Given the description of an element on the screen output the (x, y) to click on. 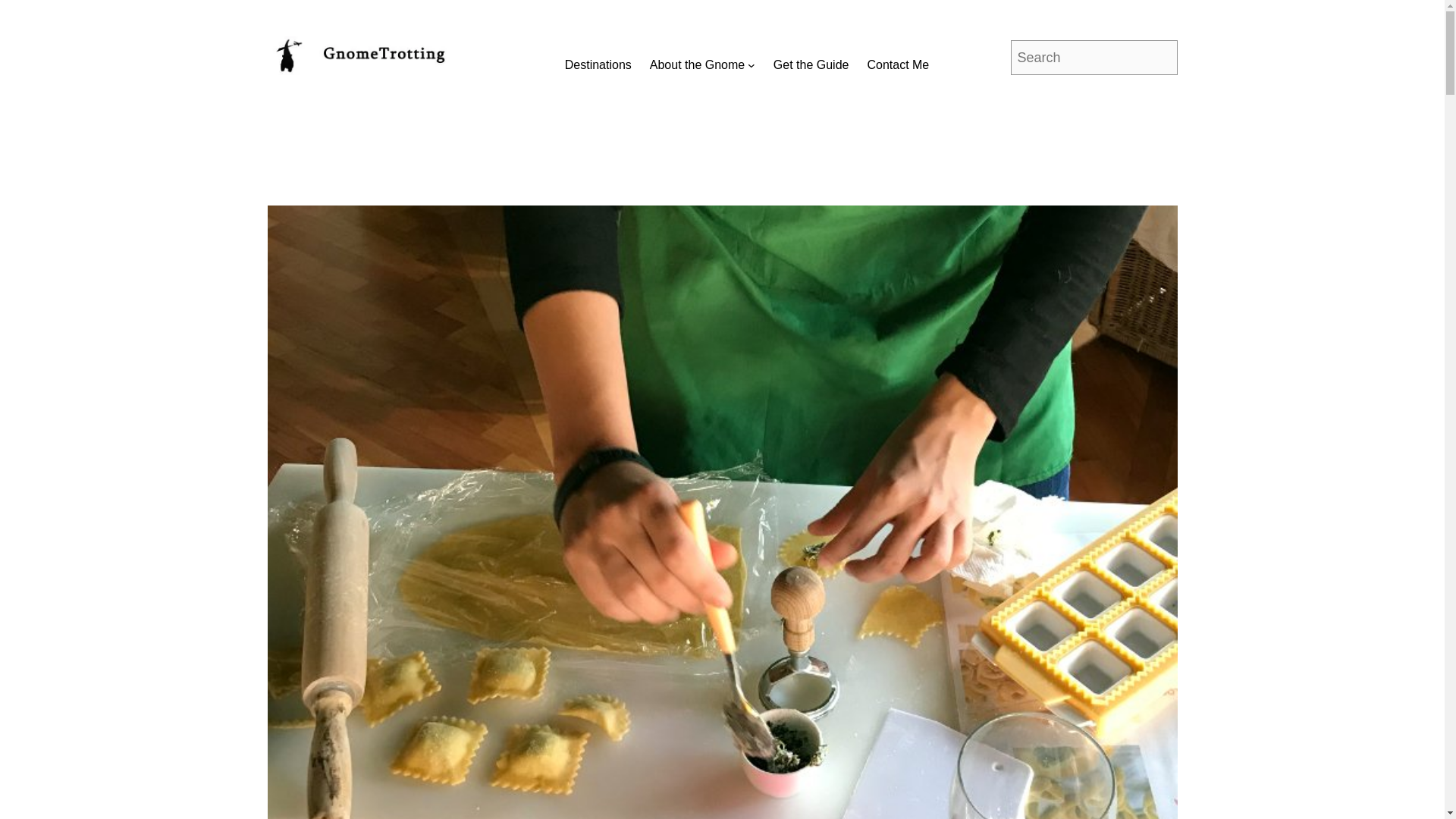
About the Gnome (702, 65)
Destinations (597, 65)
Get the Guide (810, 65)
Contact Me (897, 65)
